Given the description of an element on the screen output the (x, y) to click on. 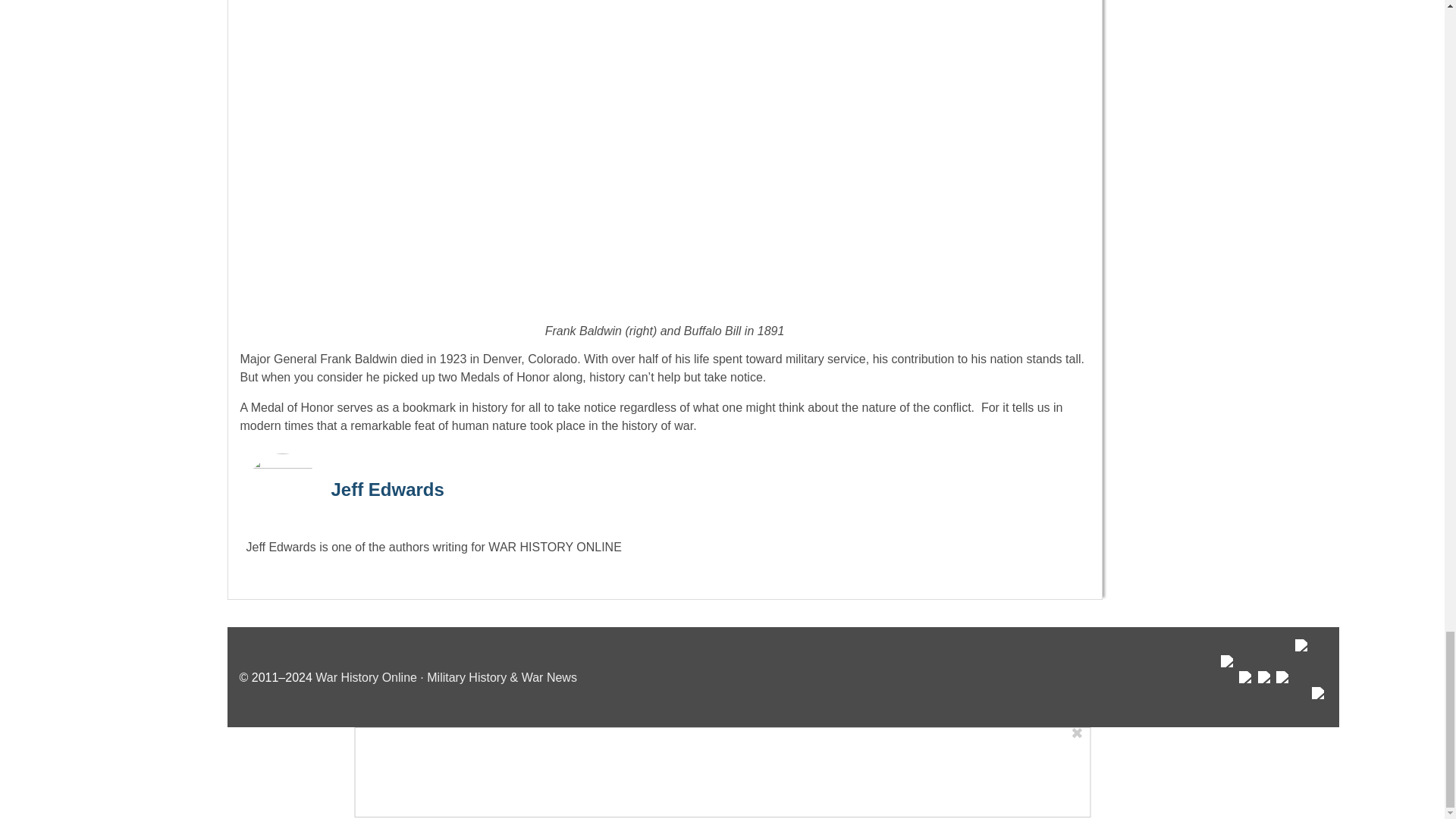
Tank Roar (1283, 692)
I Love WWII Planes (1302, 676)
Outdoor Revival (1246, 692)
The Vintage News (1228, 684)
Abandoned Spaces (1264, 692)
